Given the description of an element on the screen output the (x, y) to click on. 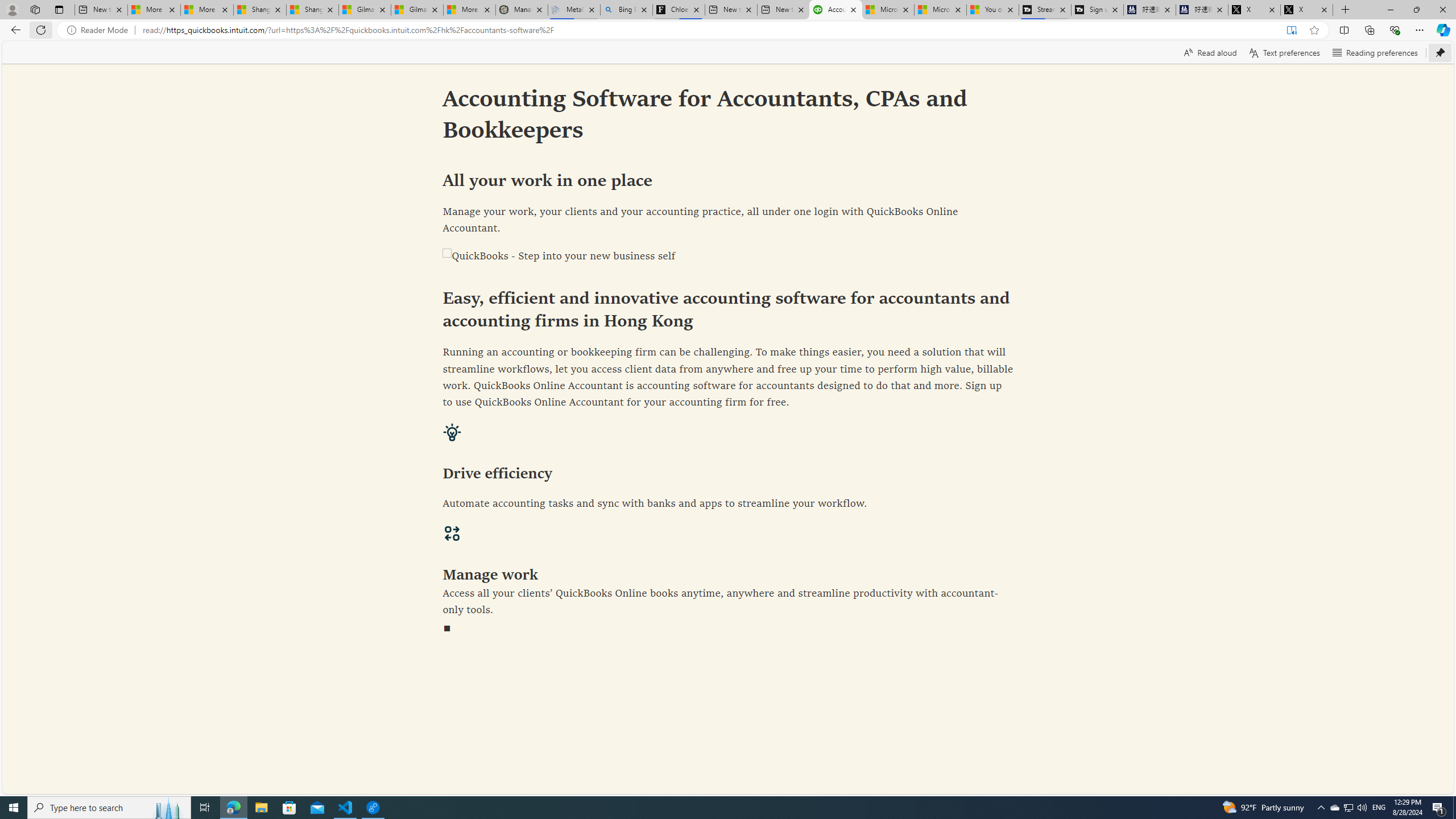
Reader Mode (100, 29)
Reading preferences (1374, 52)
Gilma and Hector both pose tropical trouble for Hawaii (416, 9)
X (1306, 9)
Bing Real Estate - Home sales and rental listings (626, 9)
Chloe Sorvino (678, 9)
Text preferences (1283, 52)
